Given the description of an element on the screen output the (x, y) to click on. 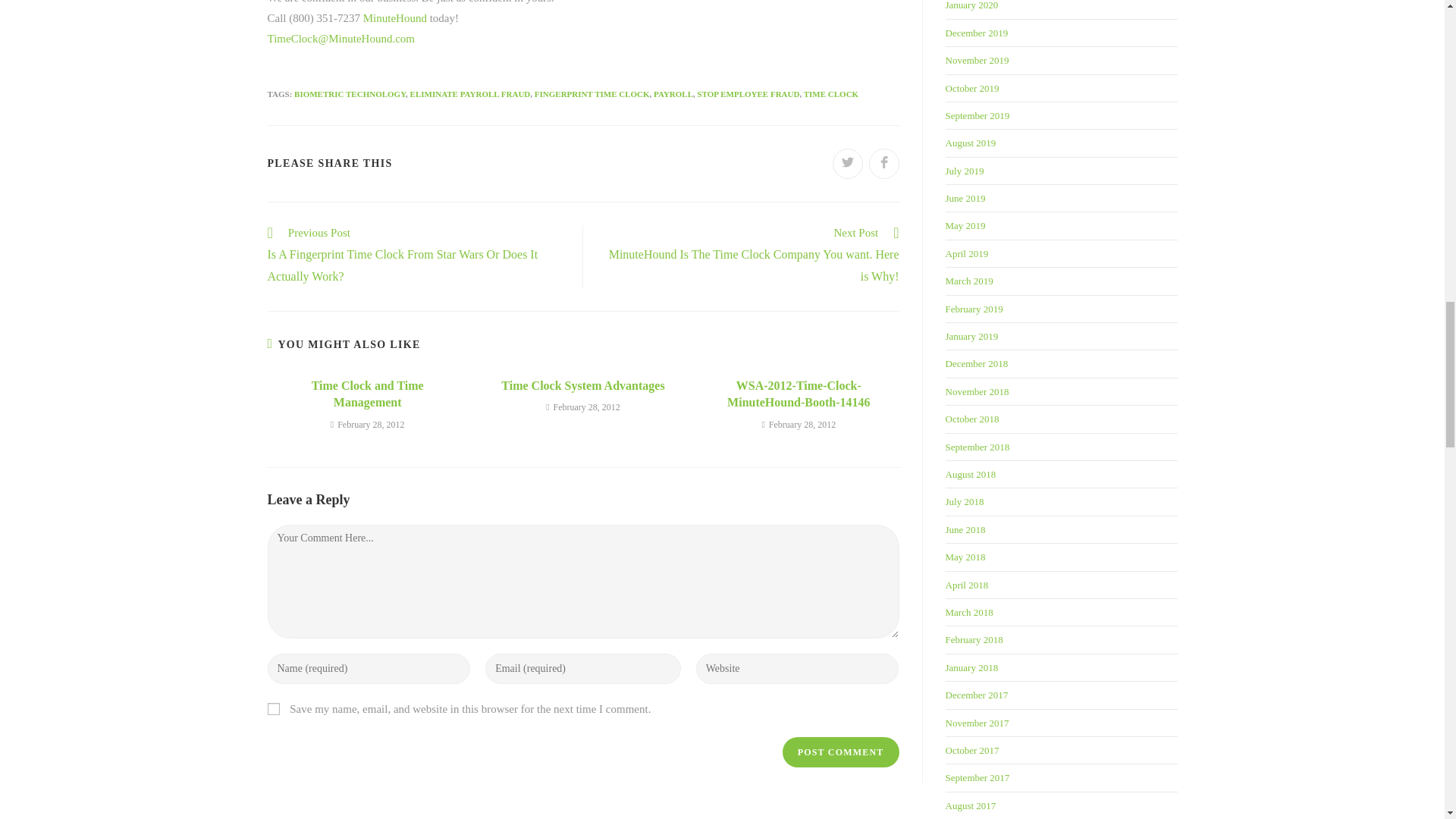
Time Clock System Advantages (583, 385)
yes (272, 708)
Post Comment (841, 752)
WSA-2012-Time-Clock-MinuteHound-Booth-14146 (798, 394)
Share on Twitter (847, 163)
Share on Facebook (884, 163)
Time Clock and Time Management (367, 394)
